Given the description of an element on the screen output the (x, y) to click on. 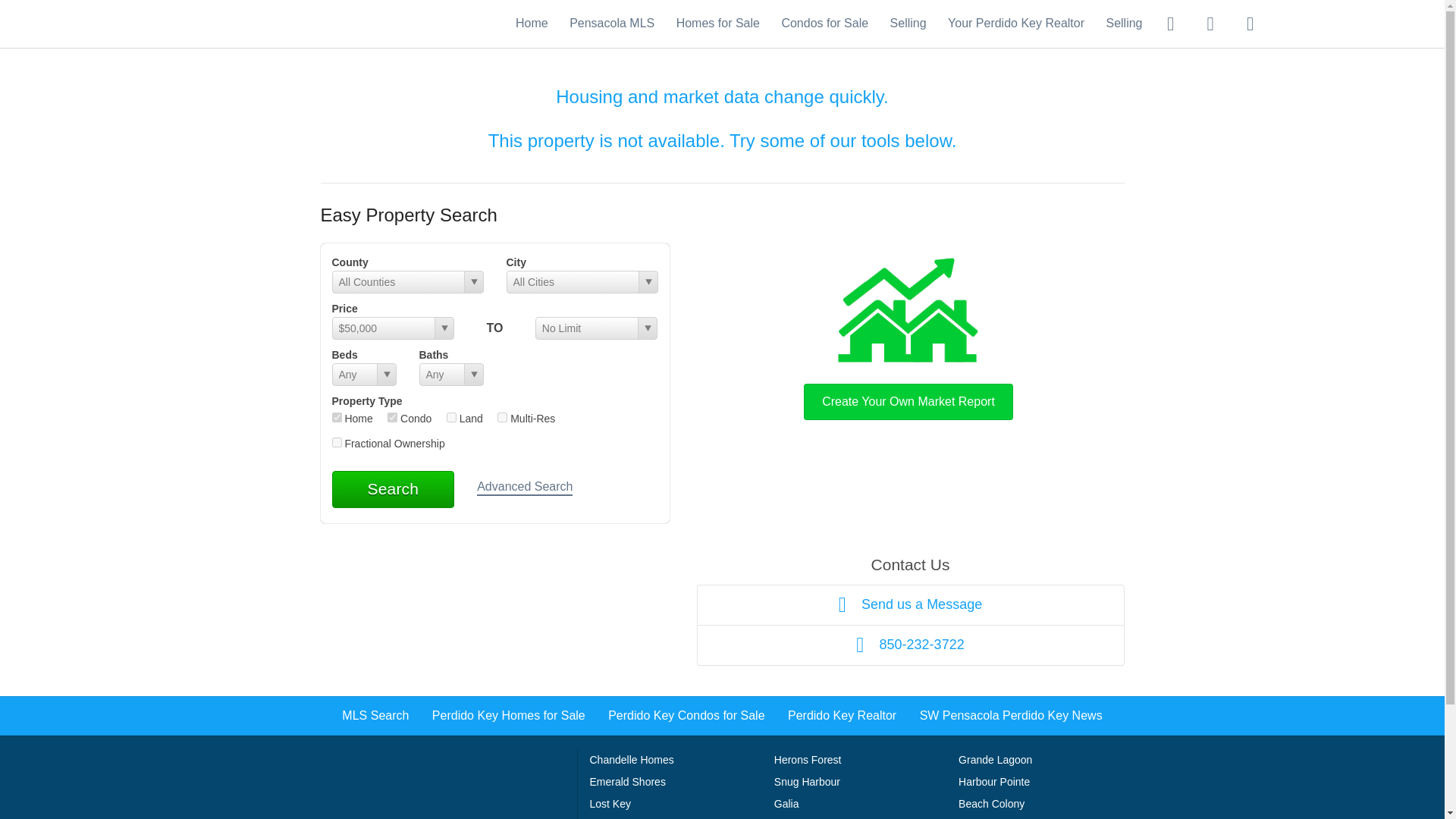
Emerald Shores (627, 781)
Create Your Own Market Report (908, 335)
Grande Lagoon (995, 759)
Perdido Key Condos for Sale (686, 715)
Homes for Sale (718, 22)
Search (392, 488)
res (336, 417)
con (392, 417)
Send us a Message (909, 604)
Search (392, 488)
